Given the description of an element on the screen output the (x, y) to click on. 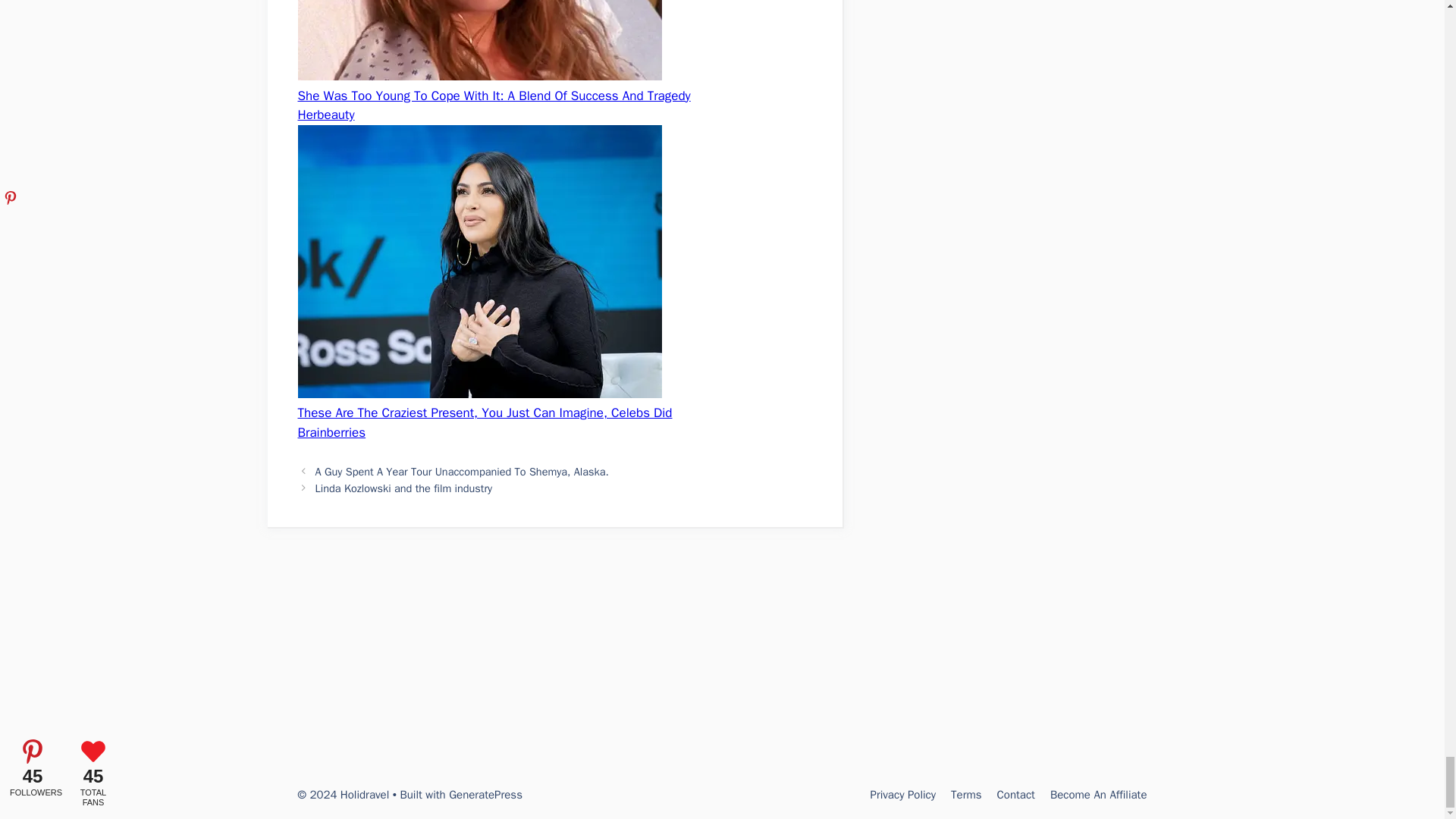
Privacy Policy (902, 794)
Linda Kozlowski and the film industry (404, 488)
Terms (965, 794)
A Guy Spent A Year Tour Unaccompanied To Shemya, Alaska. (461, 471)
